Given the description of an element on the screen output the (x, y) to click on. 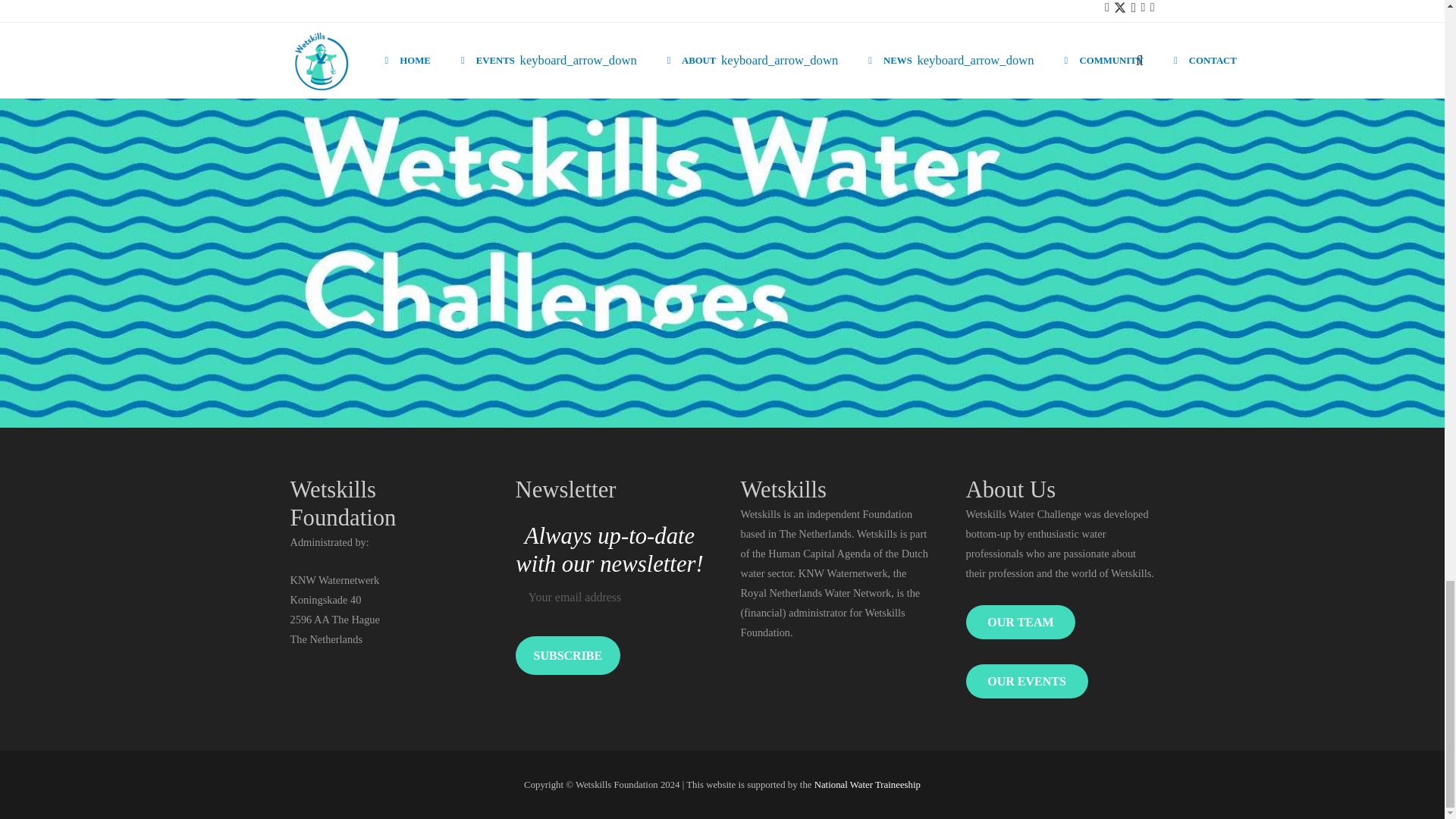
Subscribe (568, 655)
